Given the description of an element on the screen output the (x, y) to click on. 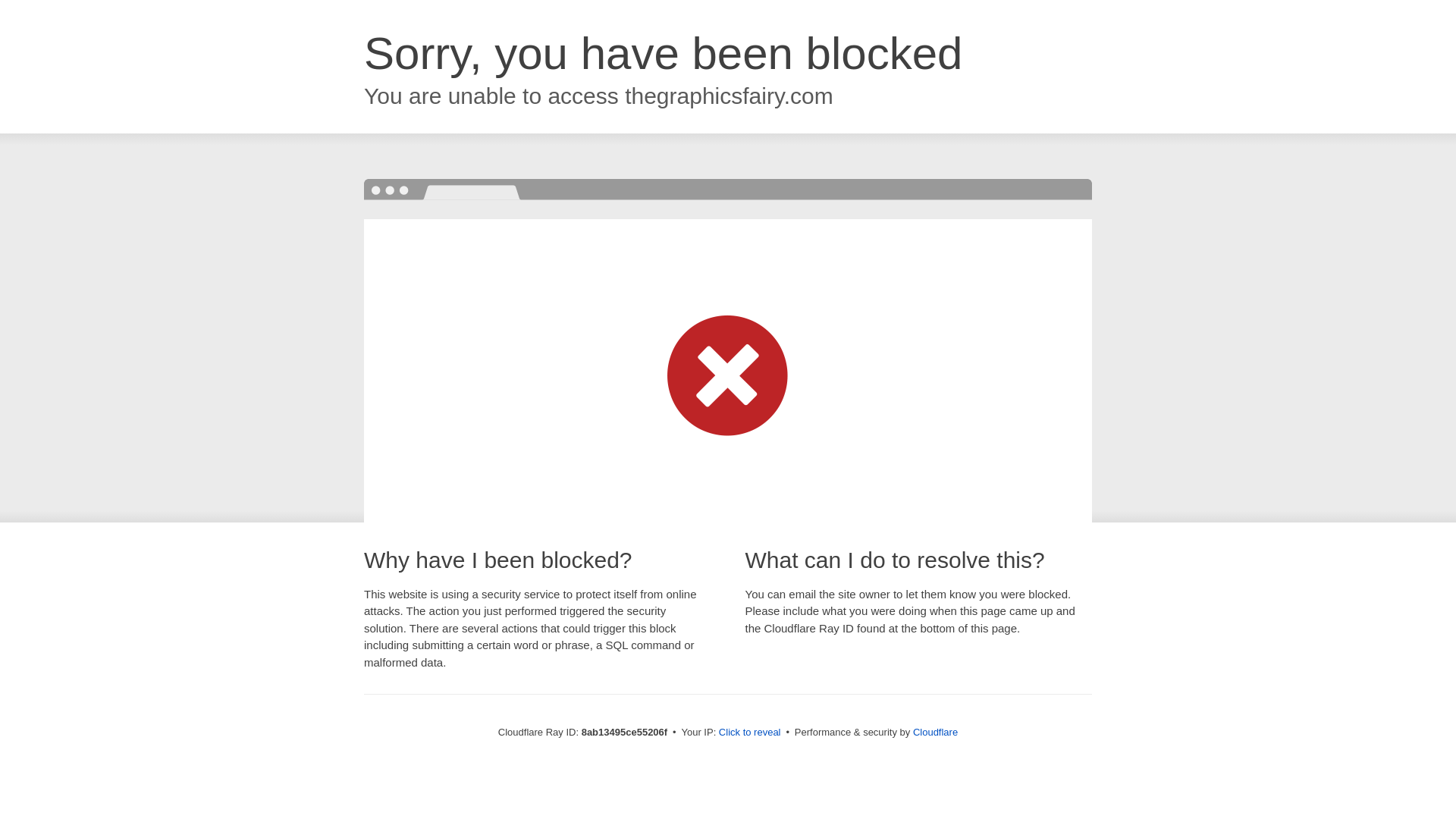
Click to reveal (749, 732)
Cloudflare (935, 731)
